Given the description of an element on the screen output the (x, y) to click on. 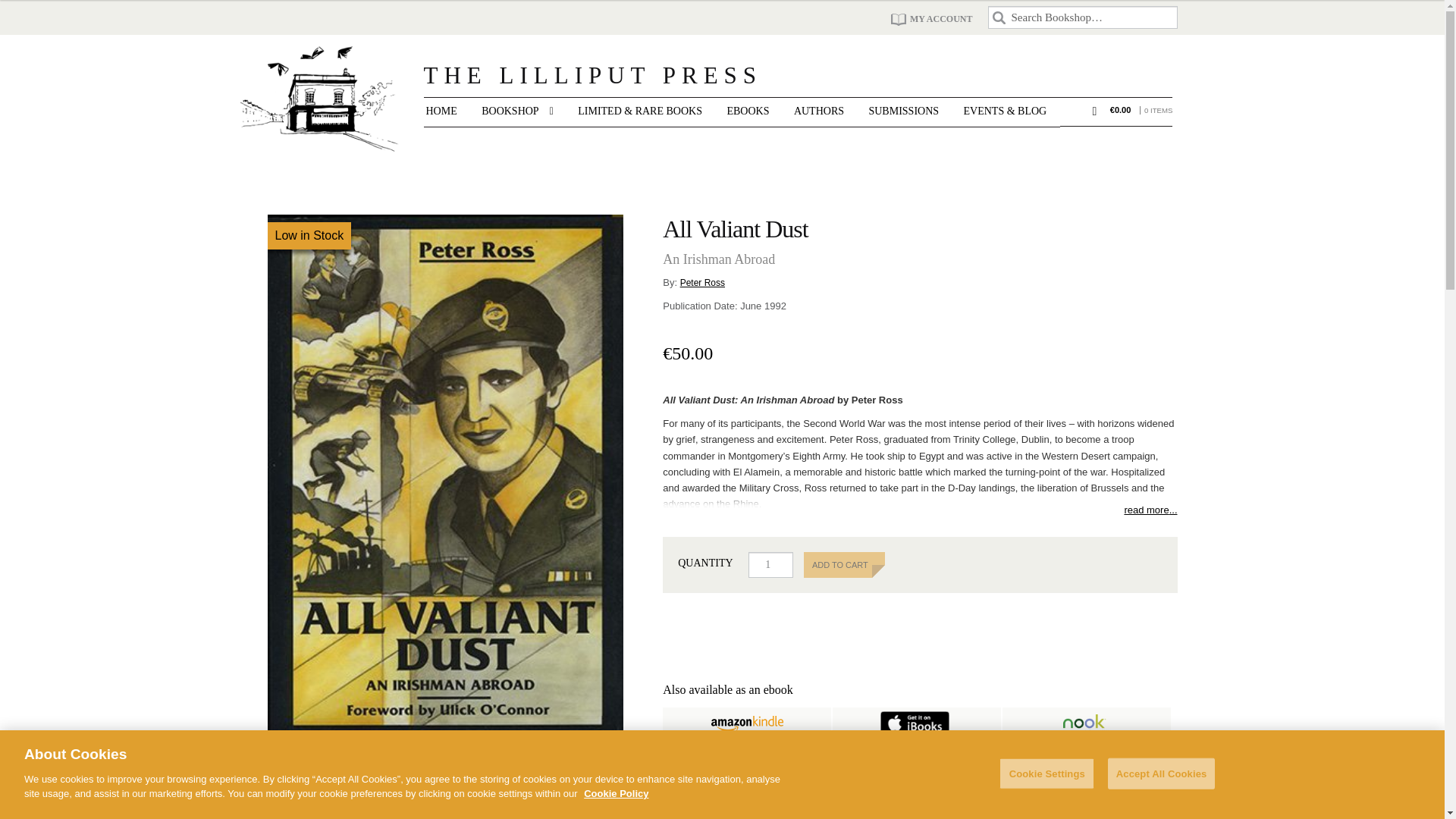
Qty (770, 565)
View your shopping cart (1141, 110)
Amazon (747, 723)
Kobo (747, 757)
PayPal (919, 613)
1 (770, 565)
Apple (916, 721)
Kobo (747, 756)
read more (919, 506)
Apple (916, 723)
